Given the description of an element on the screen output the (x, y) to click on. 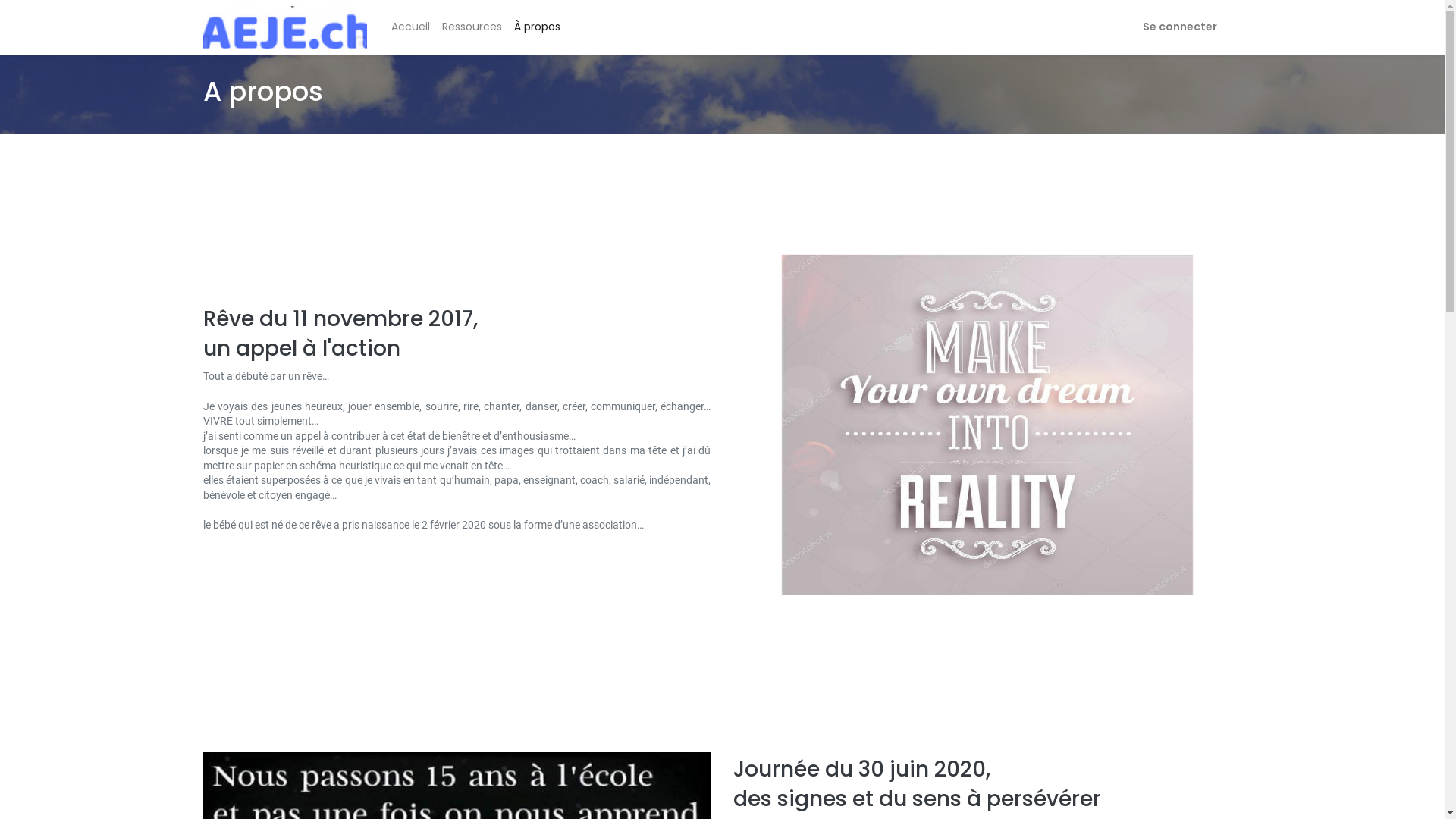
Se connecter Element type: text (1179, 26)
Accueil Element type: text (410, 26)
Ressources Element type: text (472, 26)
AEJE Element type: hover (285, 27)
